Given the description of an element on the screen output the (x, y) to click on. 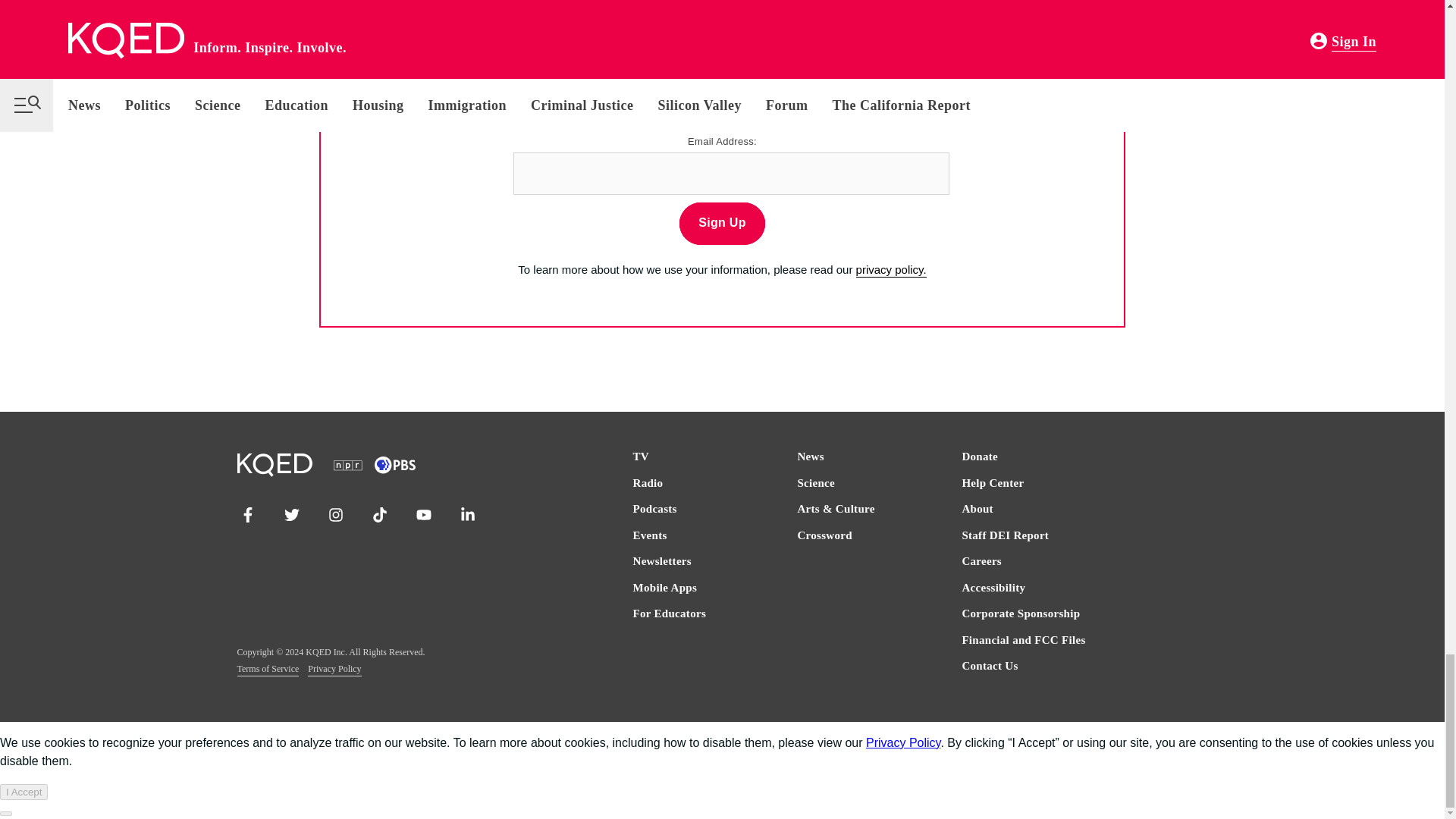
KQED (719, 62)
